Given the description of an element on the screen output the (x, y) to click on. 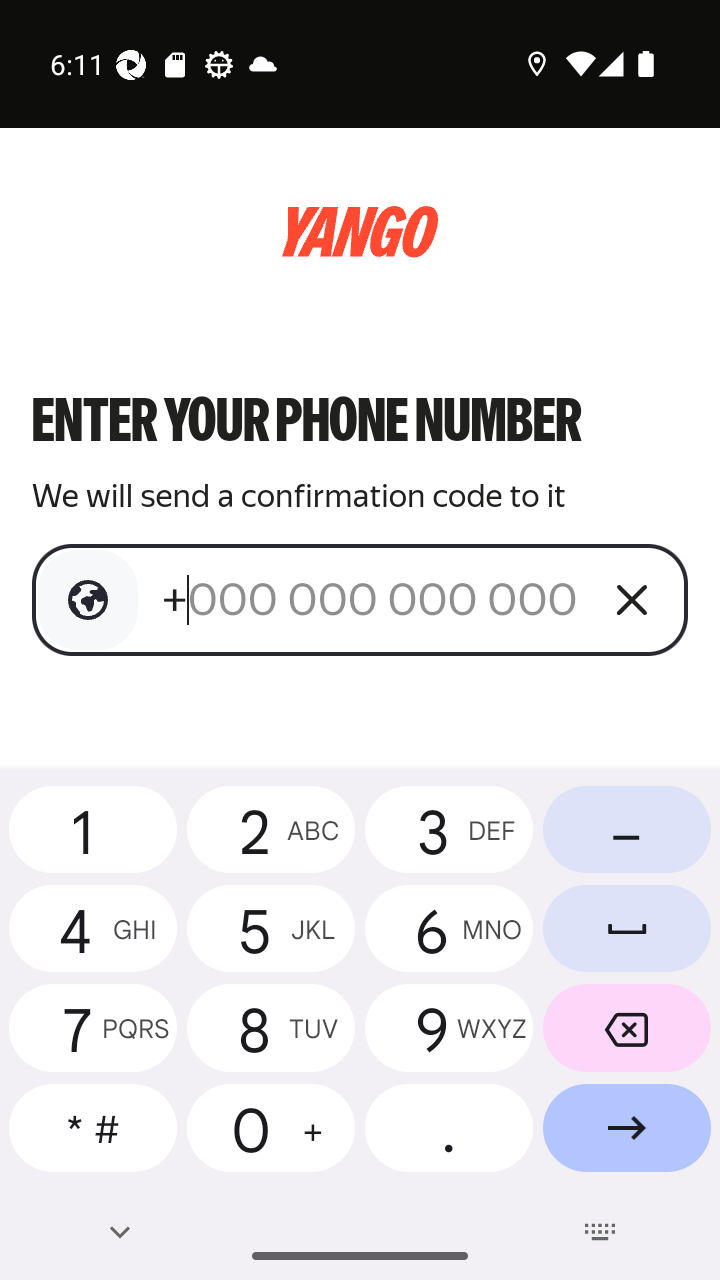
logo (359, 231)
  (88, 600)
+ (372, 599)
